Given the description of an element on the screen output the (x, y) to click on. 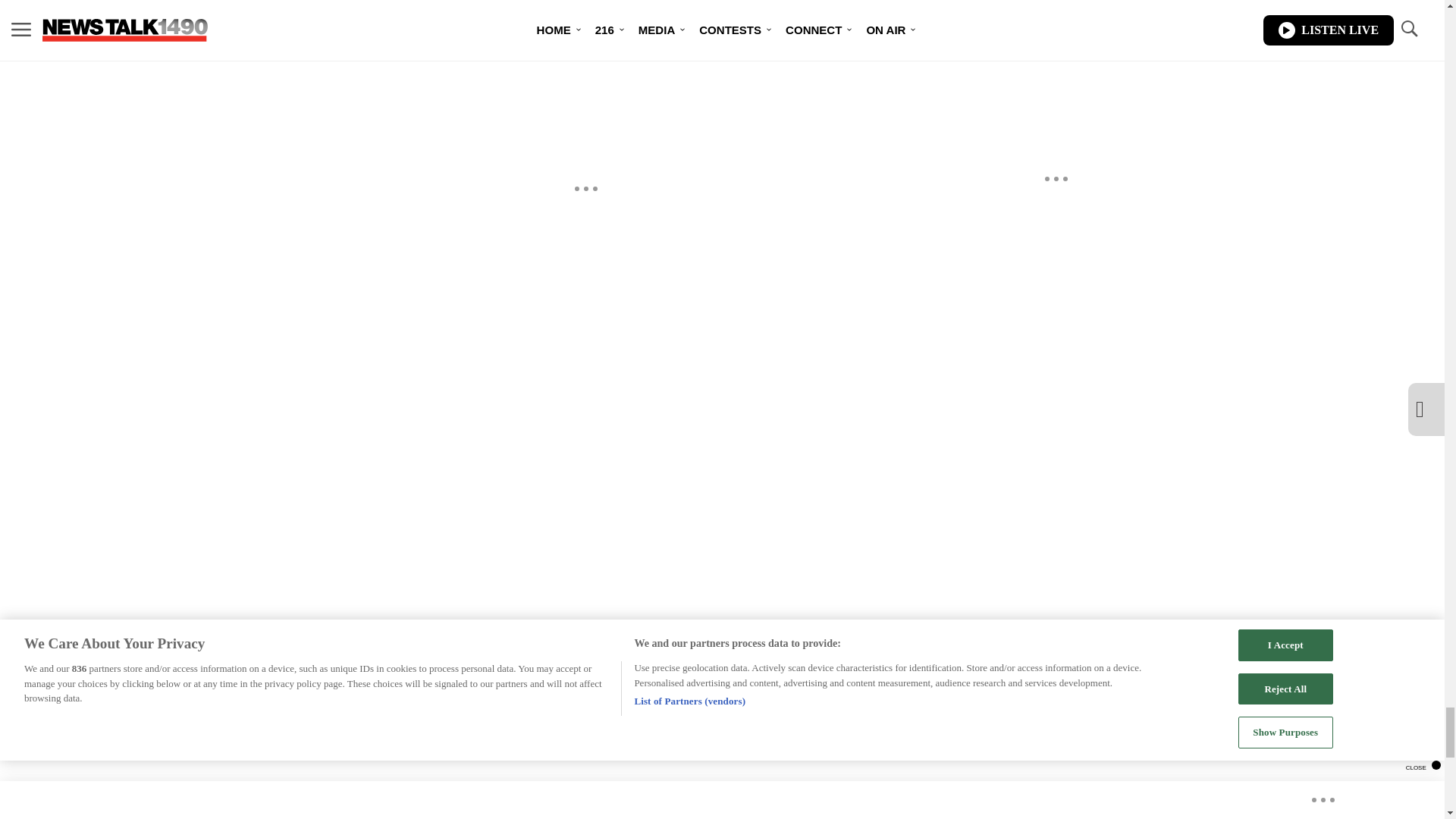
Vuukle Sharebar Widget (585, 26)
